Given the description of an element on the screen output the (x, y) to click on. 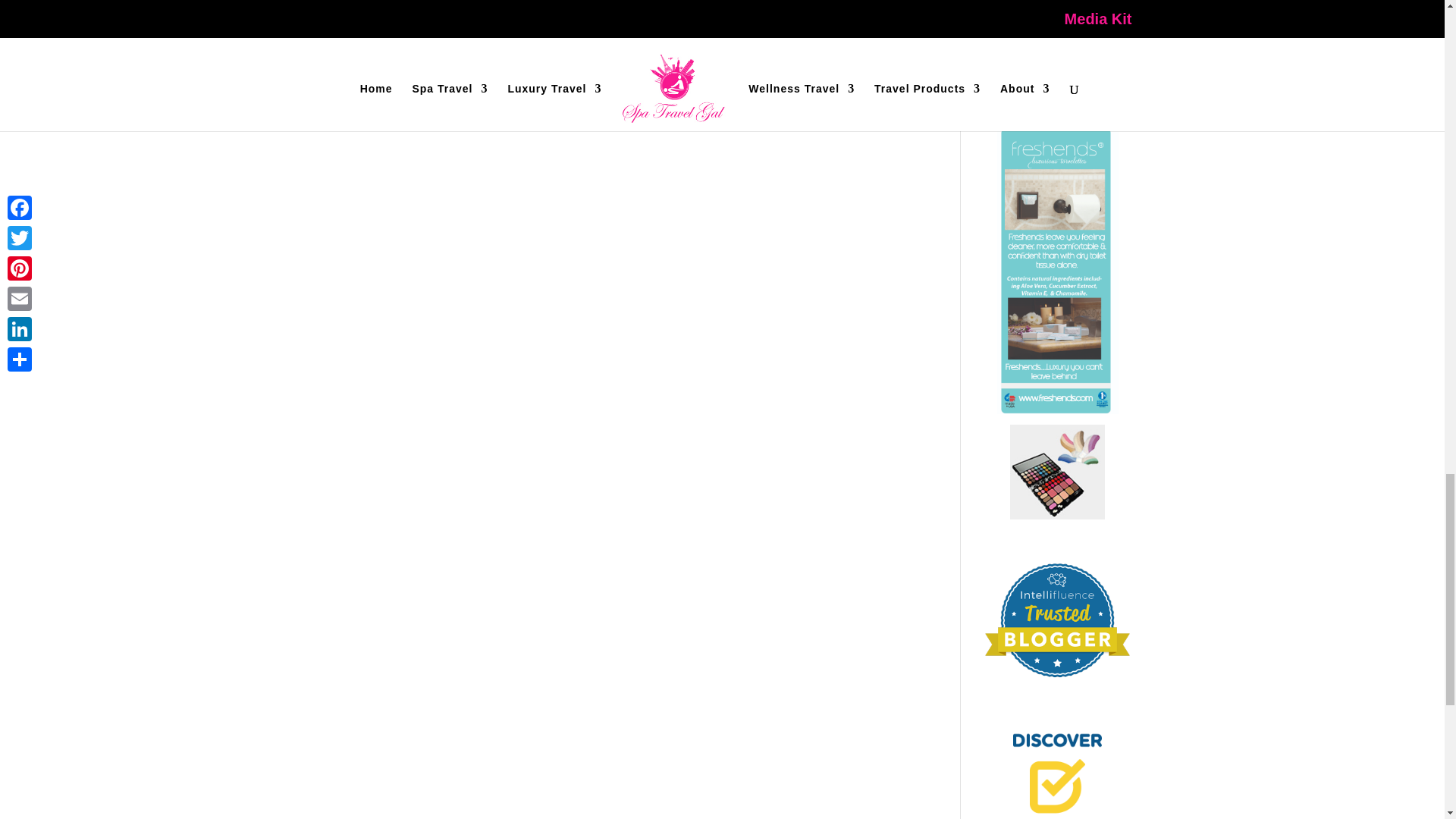
High-quality beauty supplies you need at wholesale prices (1057, 515)
